Given the description of an element on the screen output the (x, y) to click on. 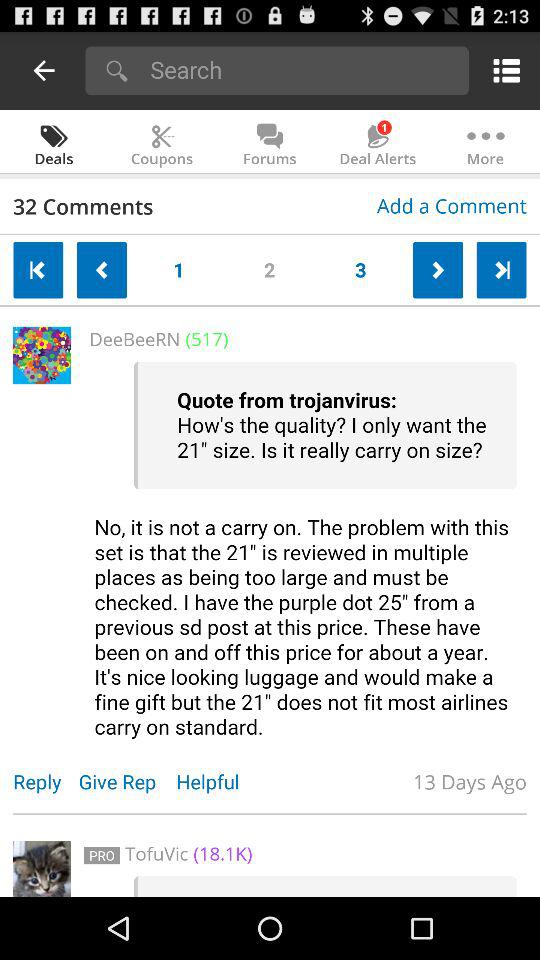
he can activate the simple voice command (305, 550)
